Given the description of an element on the screen output the (x, y) to click on. 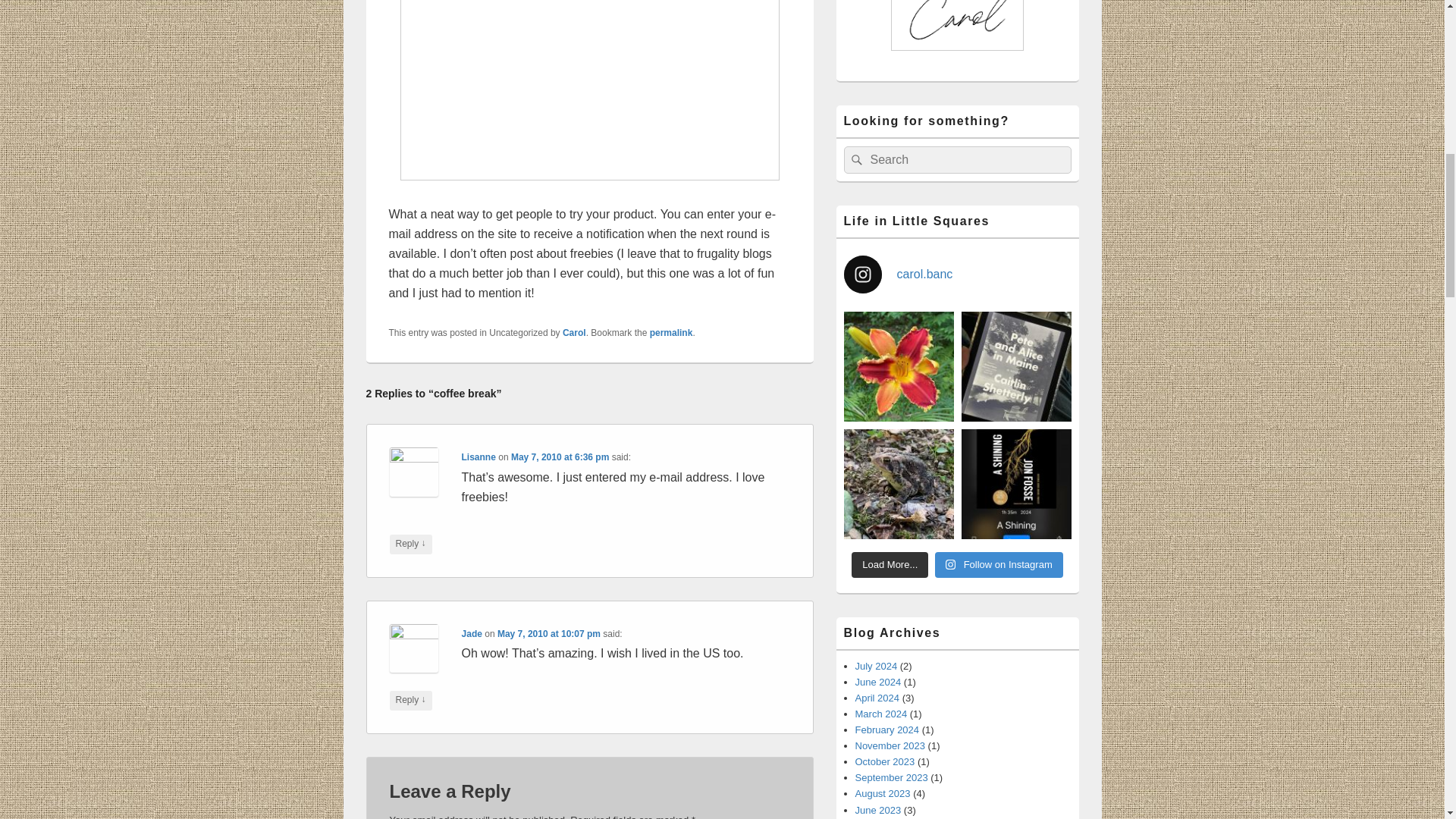
June 2024 (878, 681)
Load More... (889, 565)
April 2024 (877, 697)
free samples! by -clb-, on Flickr (589, 90)
Lisanne (478, 457)
Carol (574, 332)
November 2023 (891, 745)
Jade (471, 633)
Follow on Instagram (998, 565)
July 2024 (877, 665)
May 7, 2010 at 6:36 pm (559, 457)
February 2024 (888, 729)
carol.banc (956, 274)
Search for: (956, 159)
permalink (671, 332)
